Given the description of an element on the screen output the (x, y) to click on. 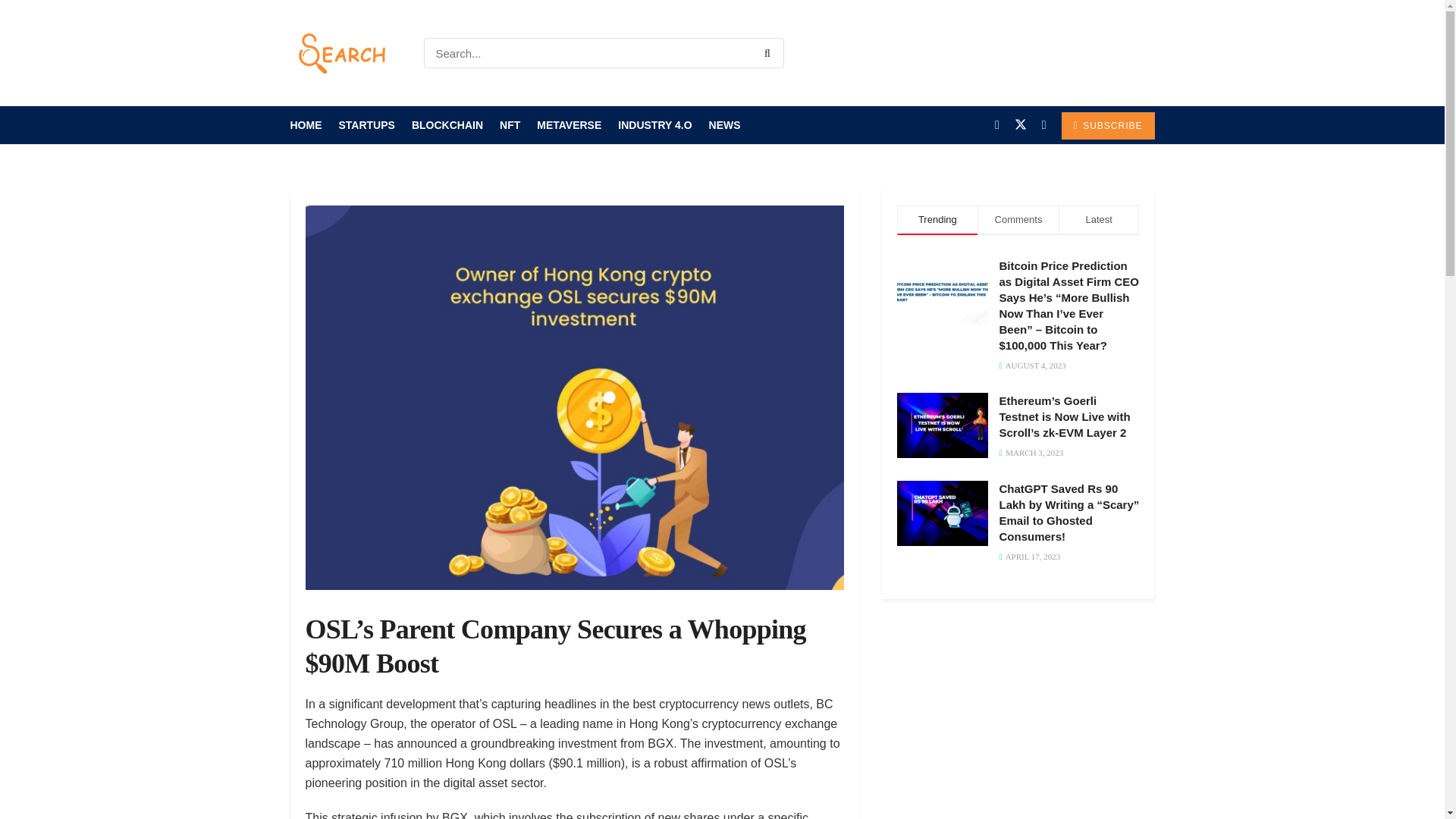
Login (1135, 53)
INDUSTRY 4.O (654, 124)
NFT (509, 124)
HOME (305, 124)
STARTUPS (365, 124)
METAVERSE (569, 124)
NEWS (725, 124)
SUBSCRIBE (1107, 125)
BLOCKCHAIN (447, 124)
